Given the description of an element on the screen output the (x, y) to click on. 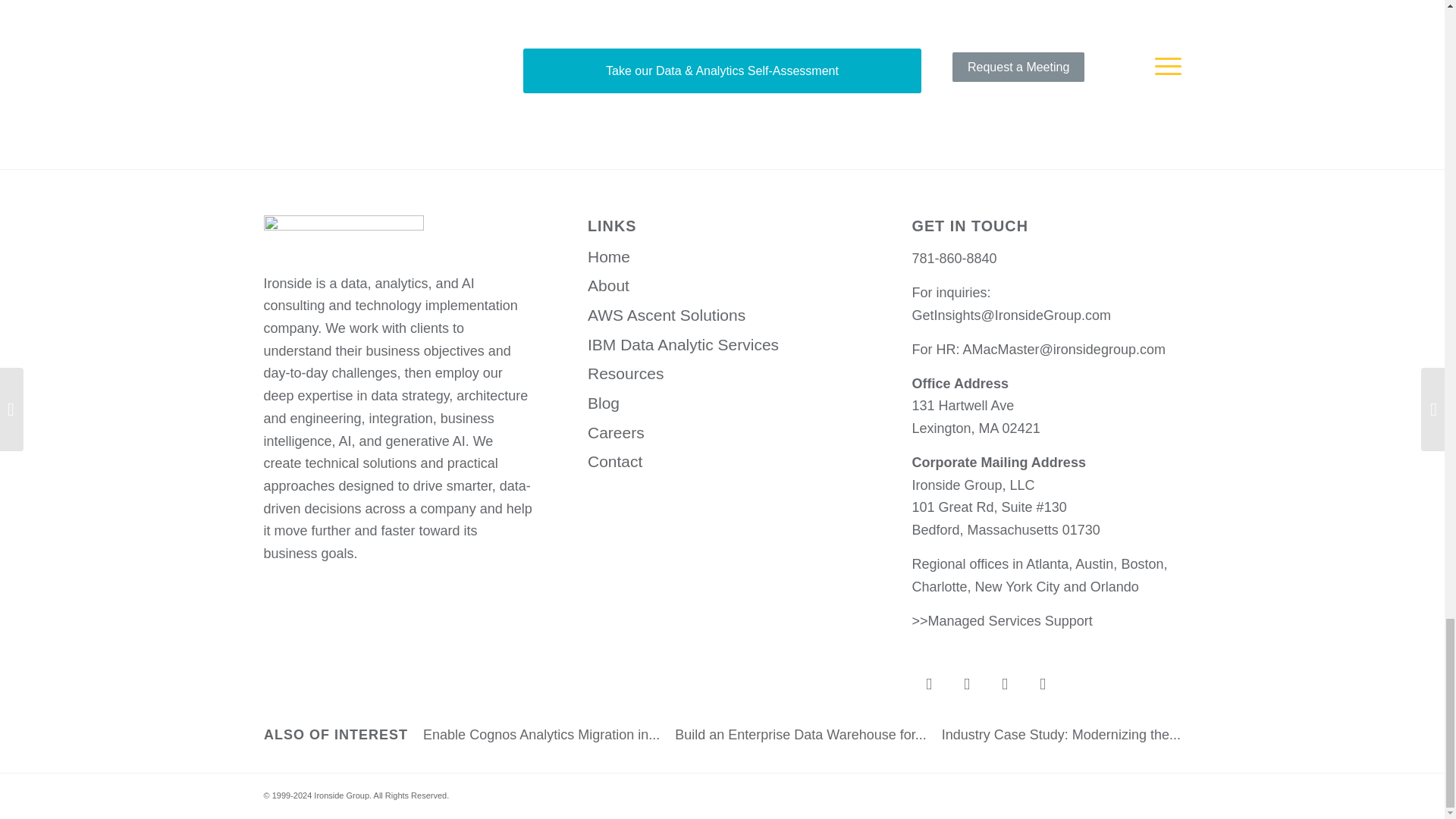
Home (722, 256)
Contact (722, 461)
Blog (722, 403)
AWS Ascent Solutions (722, 315)
About (722, 286)
IBM Data Analytic Services (722, 345)
Careers (722, 432)
Resources (722, 374)
